Given the description of an element on the screen output the (x, y) to click on. 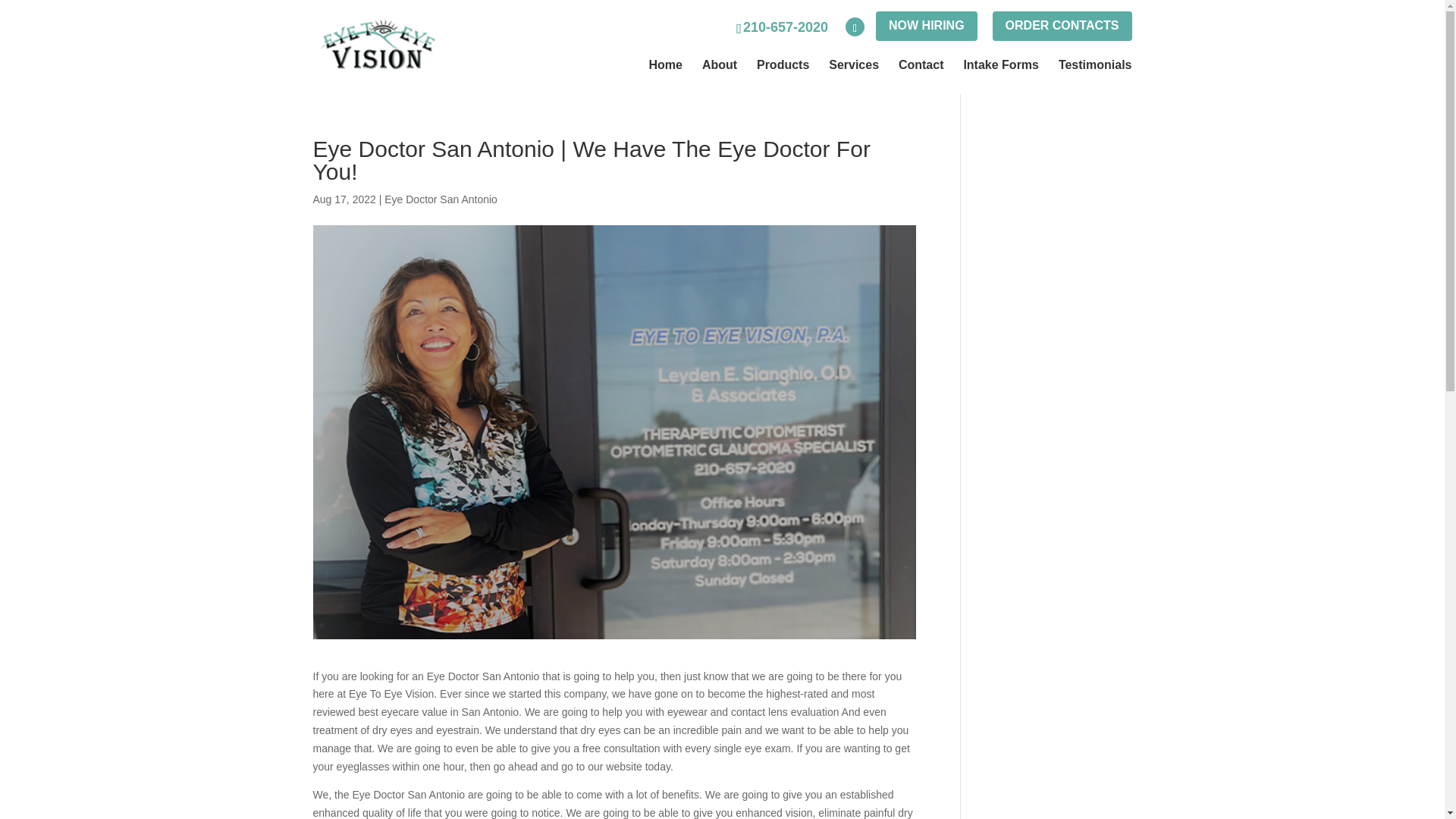
210-657-2020 (782, 27)
Eye Doctor San Antonio (440, 199)
Testimonials (1095, 64)
About (718, 64)
Contact (920, 64)
Products (783, 64)
Services (853, 64)
NOW HIRING (926, 25)
ORDER CONTACTS (1062, 25)
Home (665, 64)
Intake Forms (1000, 64)
